Given the description of an element on the screen output the (x, y) to click on. 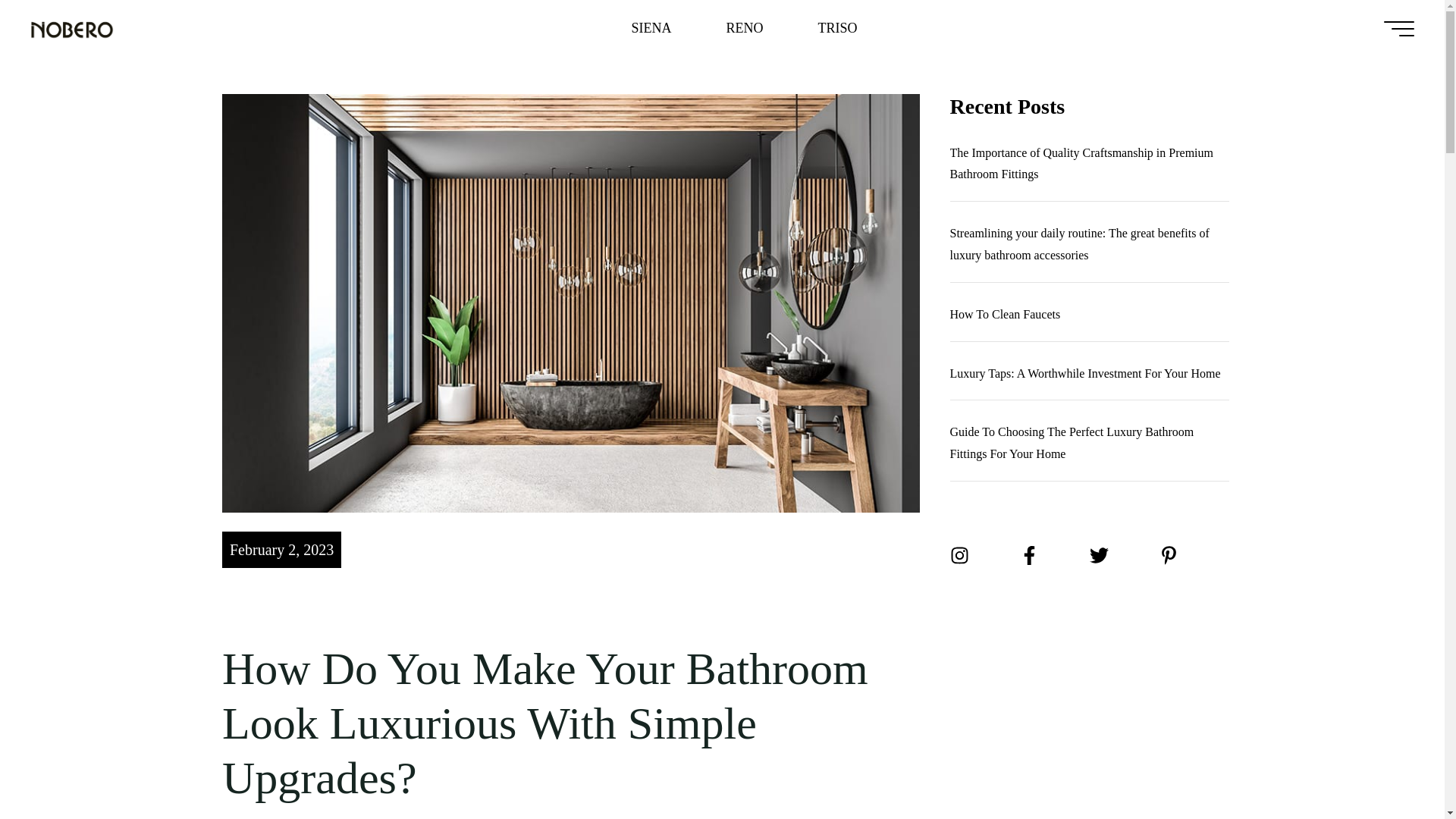
RENO (744, 28)
TRISO (836, 28)
Luxury Taps: A Worthwhile Investment For Your Home (1084, 373)
How To Clean Faucets (1004, 314)
SIENA (651, 28)
Nobero India (71, 27)
